Given the description of an element on the screen output the (x, y) to click on. 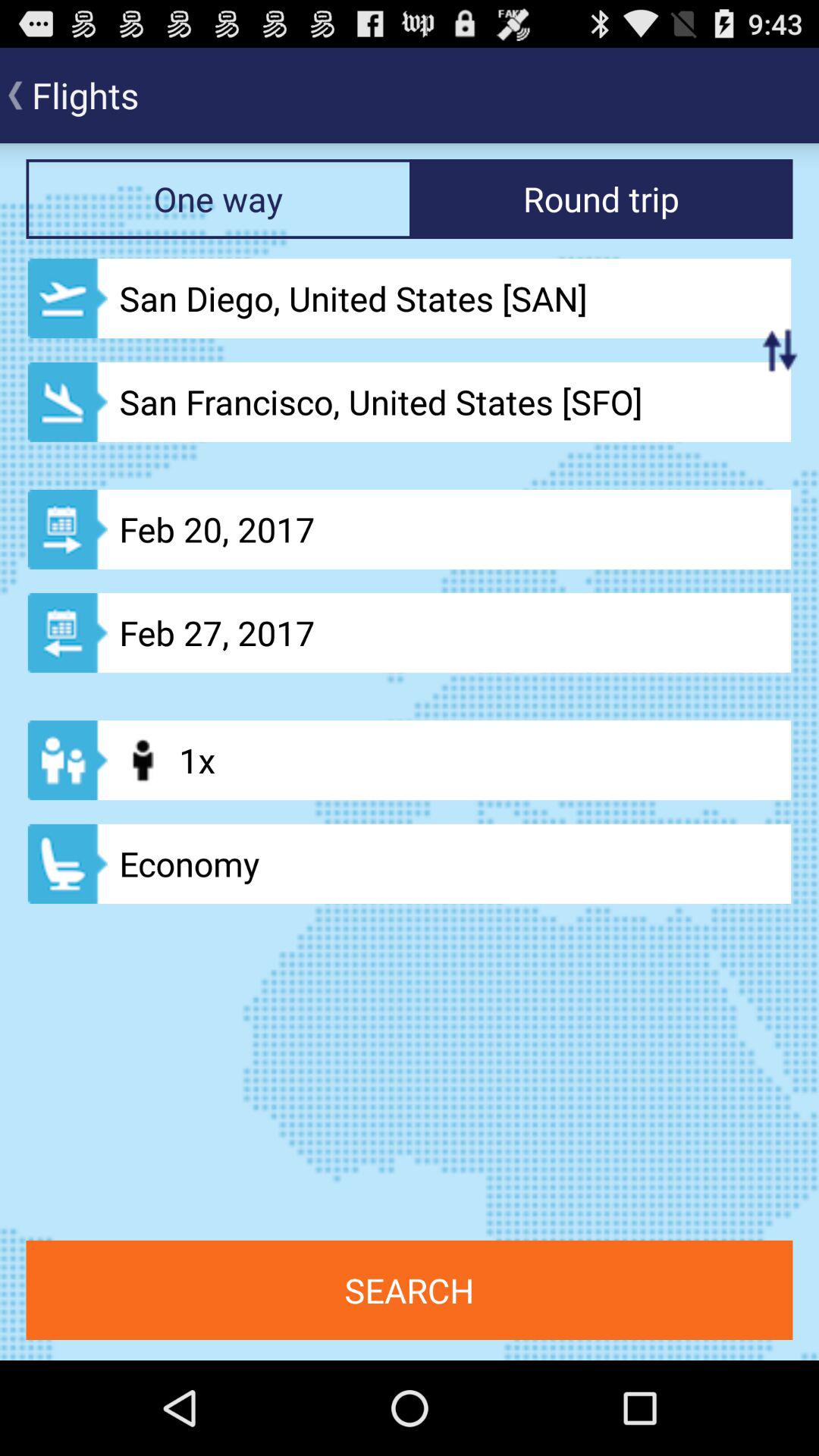
select the date feb 27  2017 (409, 632)
